Given the description of an element on the screen output the (x, y) to click on. 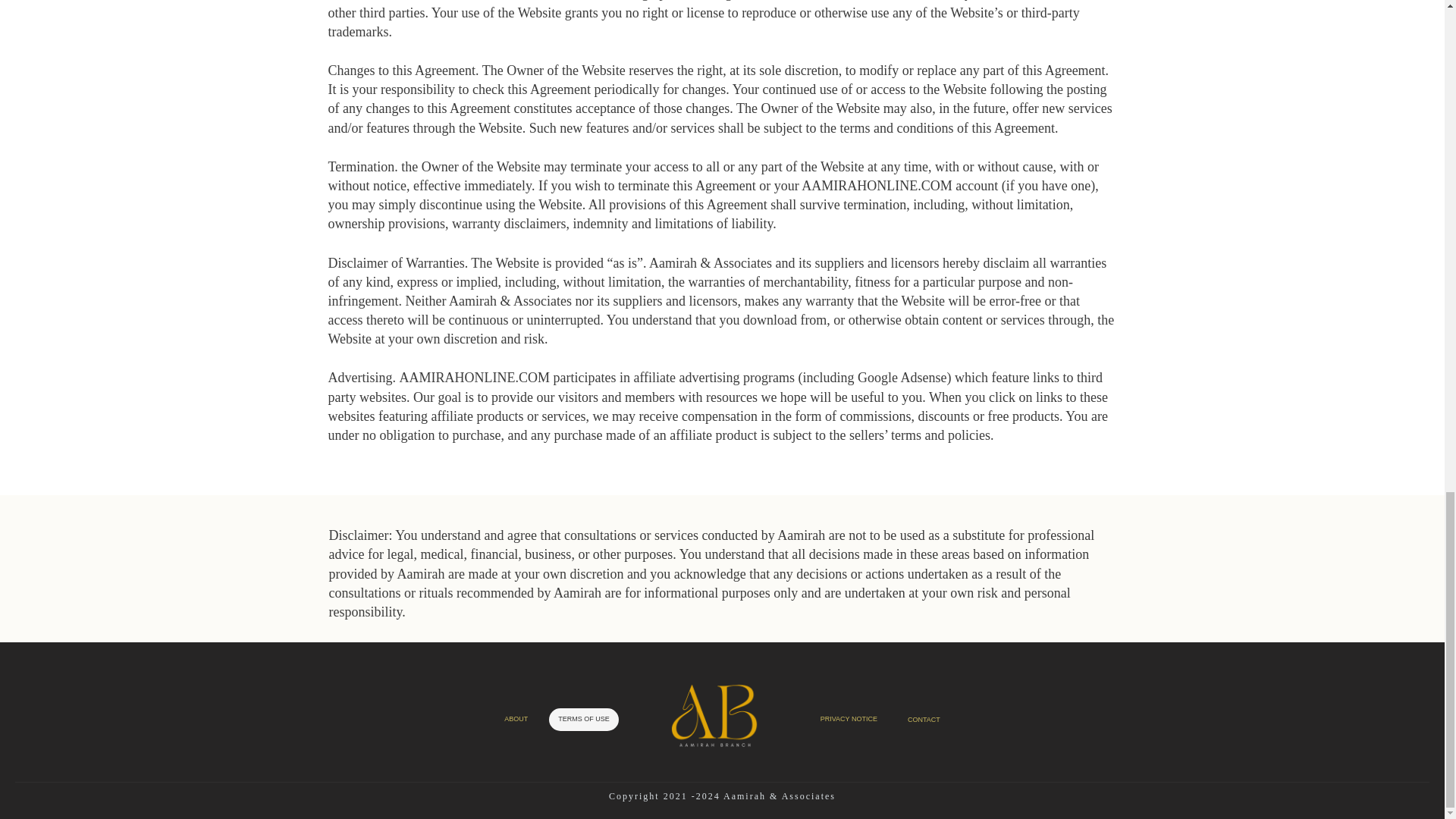
CONTACT (923, 719)
PRIVACY NOTICE (849, 719)
TERMS OF USE (583, 719)
ABOUT (515, 719)
